Given the description of an element on the screen output the (x, y) to click on. 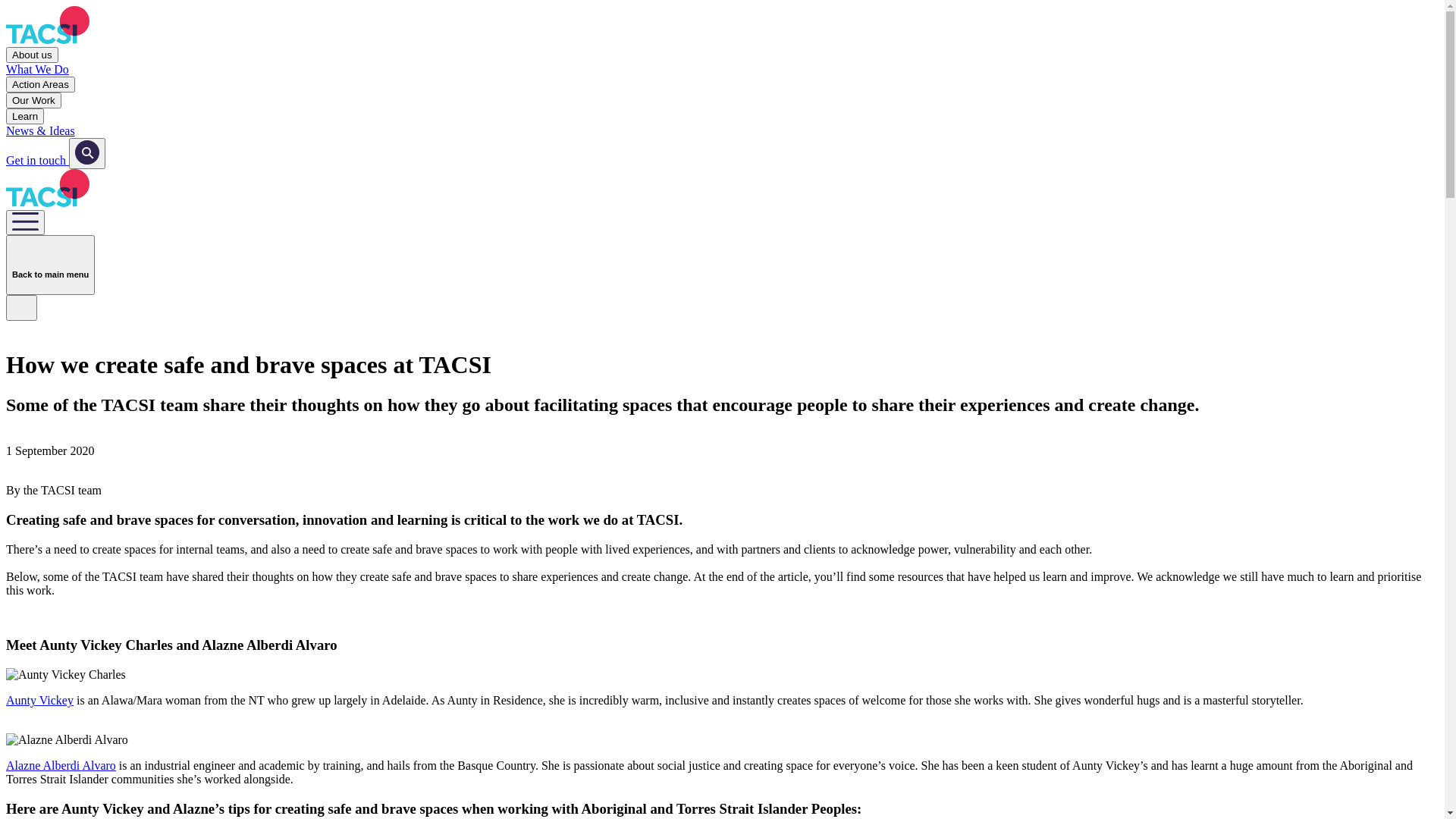
What We Do Element type: text (722, 69)
Action Areas Element type: text (40, 84)
Learn Element type: text (24, 116)
Back to main menu Element type: text (50, 264)
Get in touch Element type: text (37, 159)
Our Work Element type: text (33, 100)
About us Element type: text (32, 54)
Alazne Alberdi Alvaro Element type: text (61, 765)
Aunty Vickey Element type: text (39, 699)
News & Ideas Element type: text (722, 131)
